Given the description of an element on the screen output the (x, y) to click on. 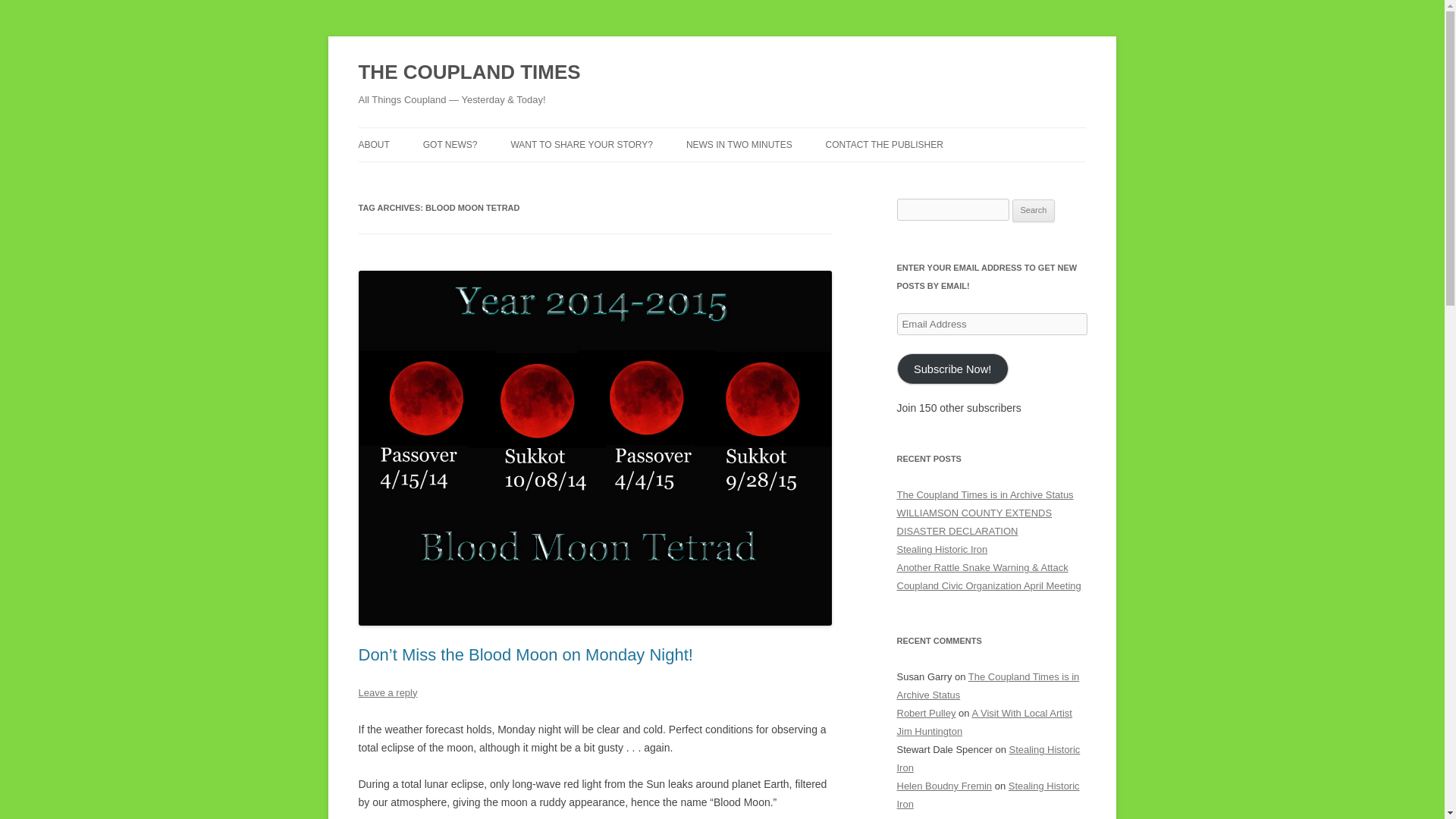
The Year of the Rattlesnake (972, 817)
Stealing Historic Iron (988, 758)
WILLIAMSON COUNTY EXTENDS DISASTER DECLARATION (973, 521)
Stealing Historic Iron (987, 794)
The Coupland Times is in Archive Status (987, 685)
The Coupland Times is in Archive Status (984, 494)
CONTACT THE PUBLISHER (884, 144)
GOT NEWS? (450, 144)
Helen Boudny Fremin (943, 785)
ABOUT (373, 144)
Coupland Civic Organization April Meeting (988, 585)
NEWS IN TWO MINUTES (738, 144)
Search (1033, 210)
THE COUPLAND TIMES (468, 72)
